Given the description of an element on the screen output the (x, y) to click on. 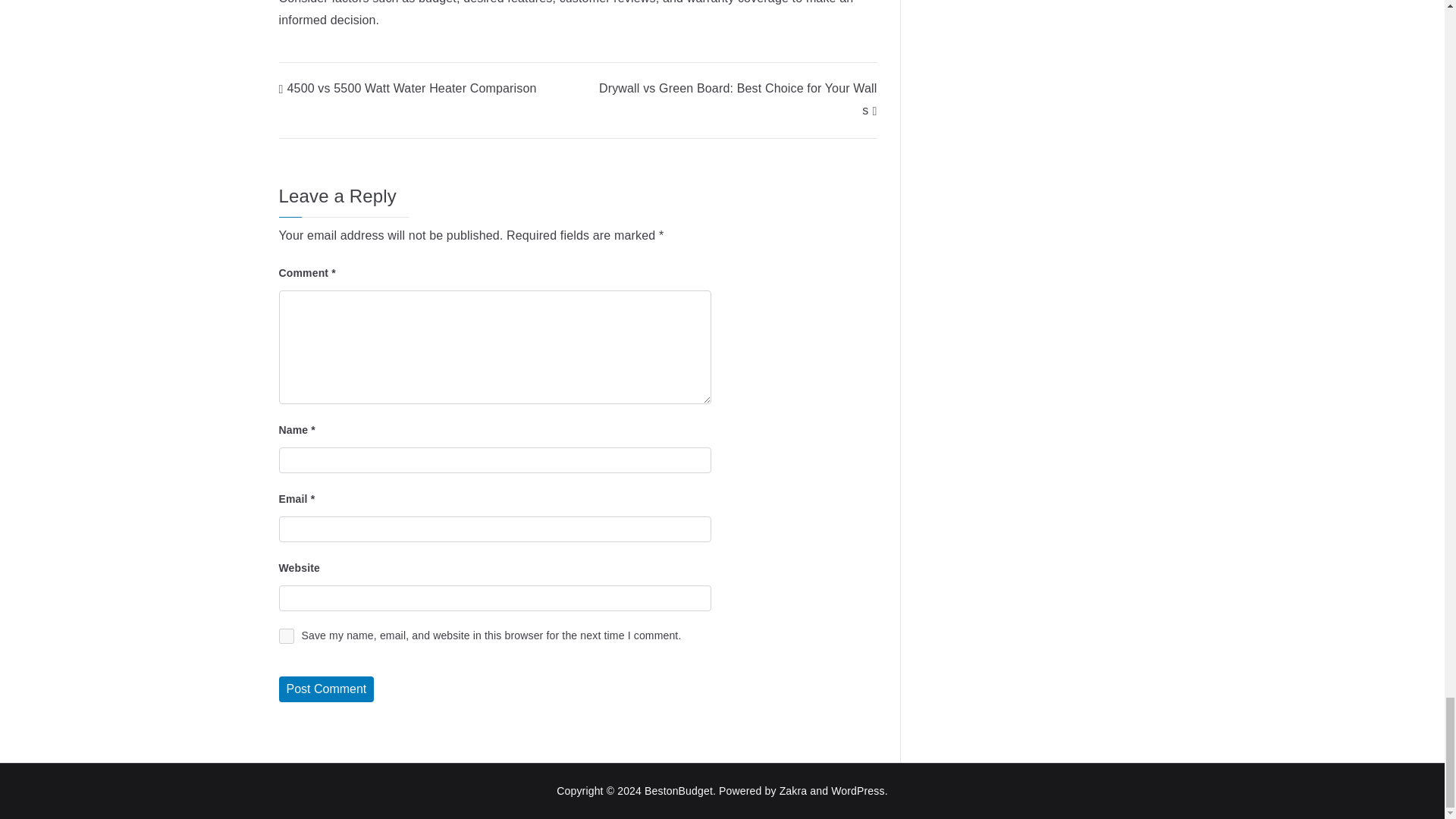
yes (286, 635)
Post Comment (326, 688)
Post Comment (326, 688)
4500 vs 5500 Watt Water Heater Comparison (408, 88)
Drywall vs Green Board: Best Choice for Your Walls (737, 99)
